Given the description of an element on the screen output the (x, y) to click on. 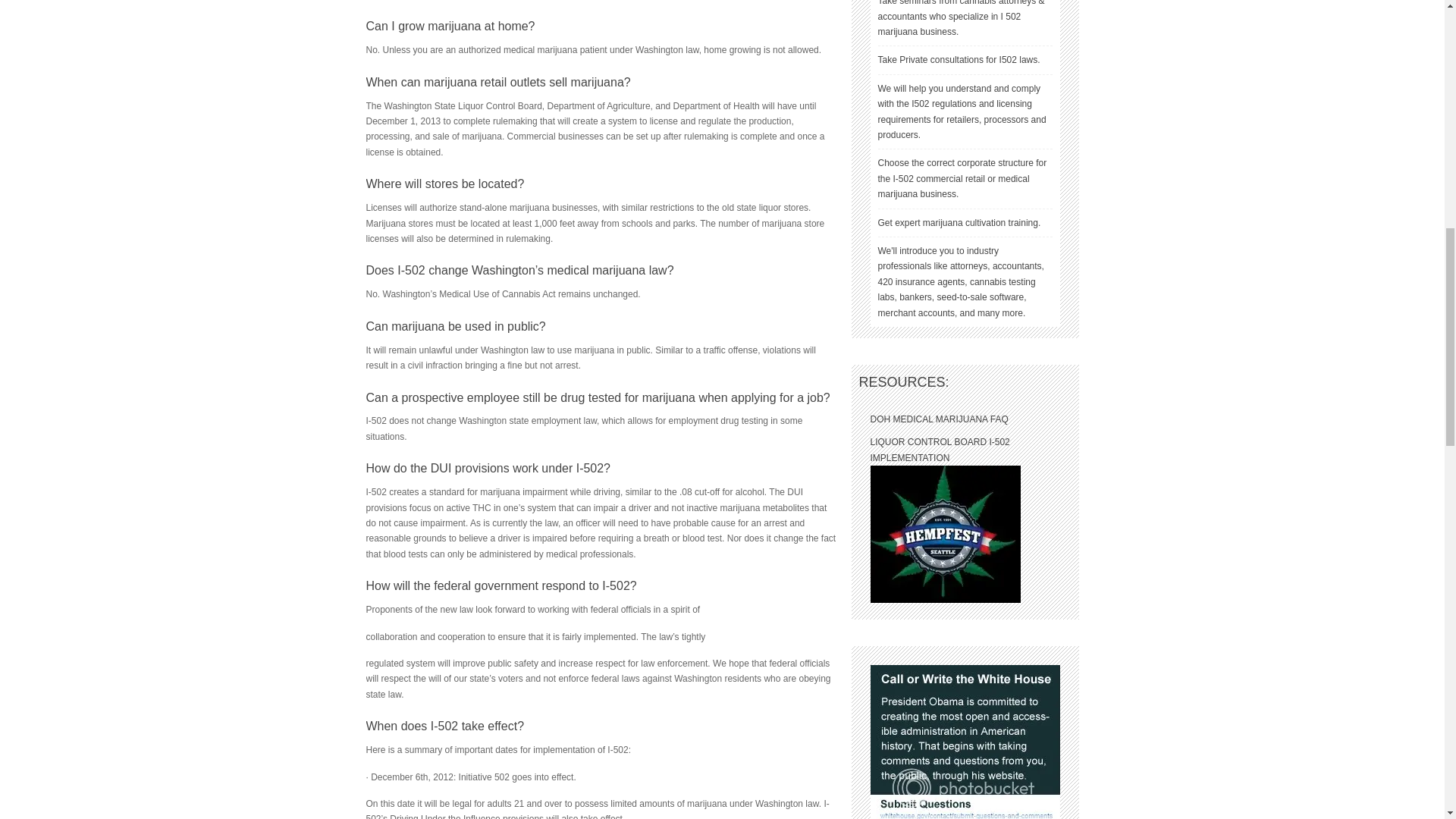
DOH MEDICAL MARIJUANA FAQ (939, 419)
LIQUOR CONTROL BOARD I-502 IMPLEMENTATION (940, 449)
